Given the description of an element on the screen output the (x, y) to click on. 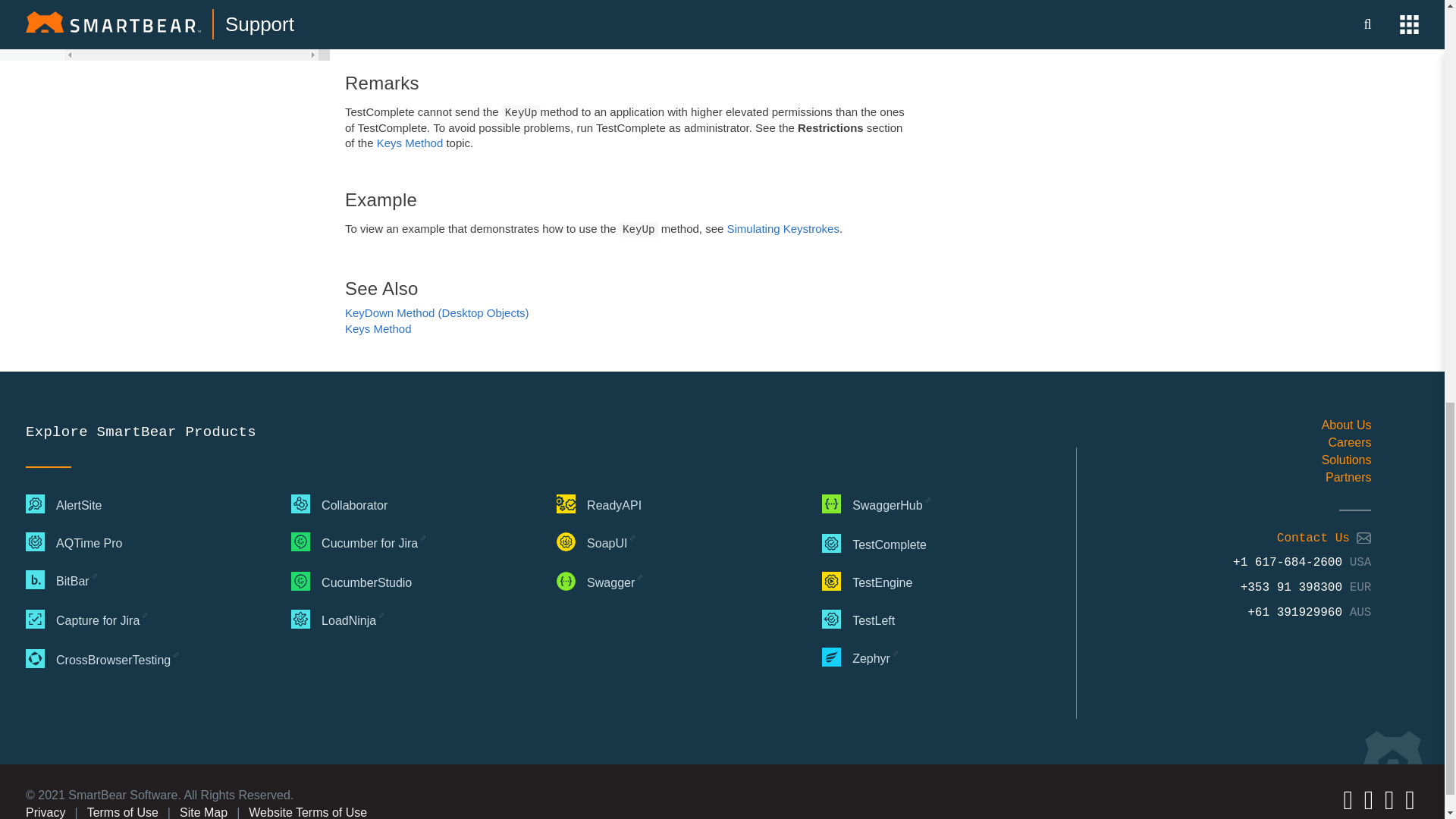
Keys Method (410, 142)
Simulating Keystrokes (783, 228)
Keys Method (378, 328)
